Given the description of an element on the screen output the (x, y) to click on. 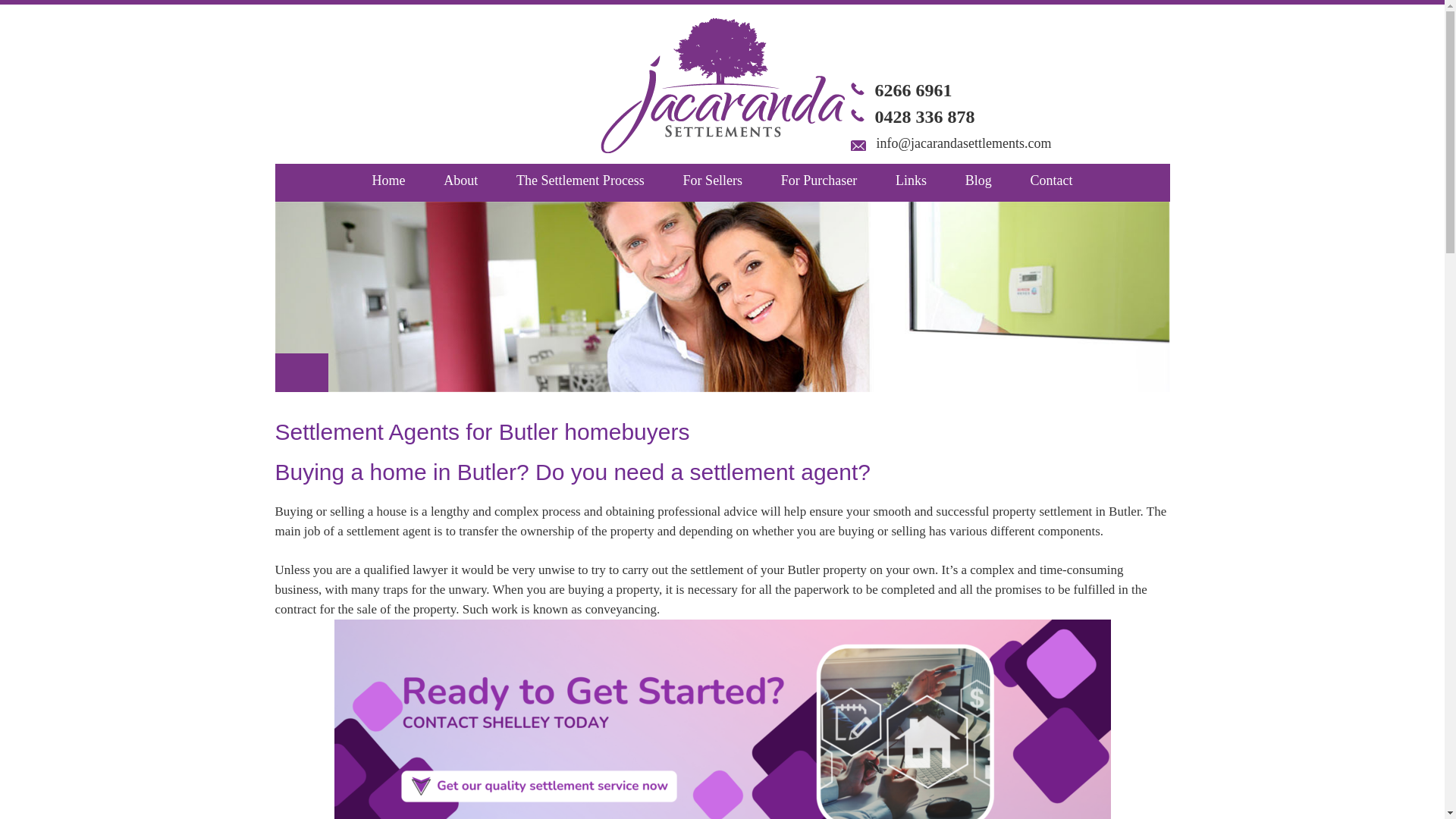
Links (910, 182)
For Purchaser (818, 182)
Blog (978, 182)
For Sellers (712, 182)
Contact (1051, 182)
0428 336 878 (925, 116)
6266 6961 (913, 89)
Home (387, 182)
The Settlement Process (580, 182)
About (460, 182)
